Given the description of an element on the screen output the (x, y) to click on. 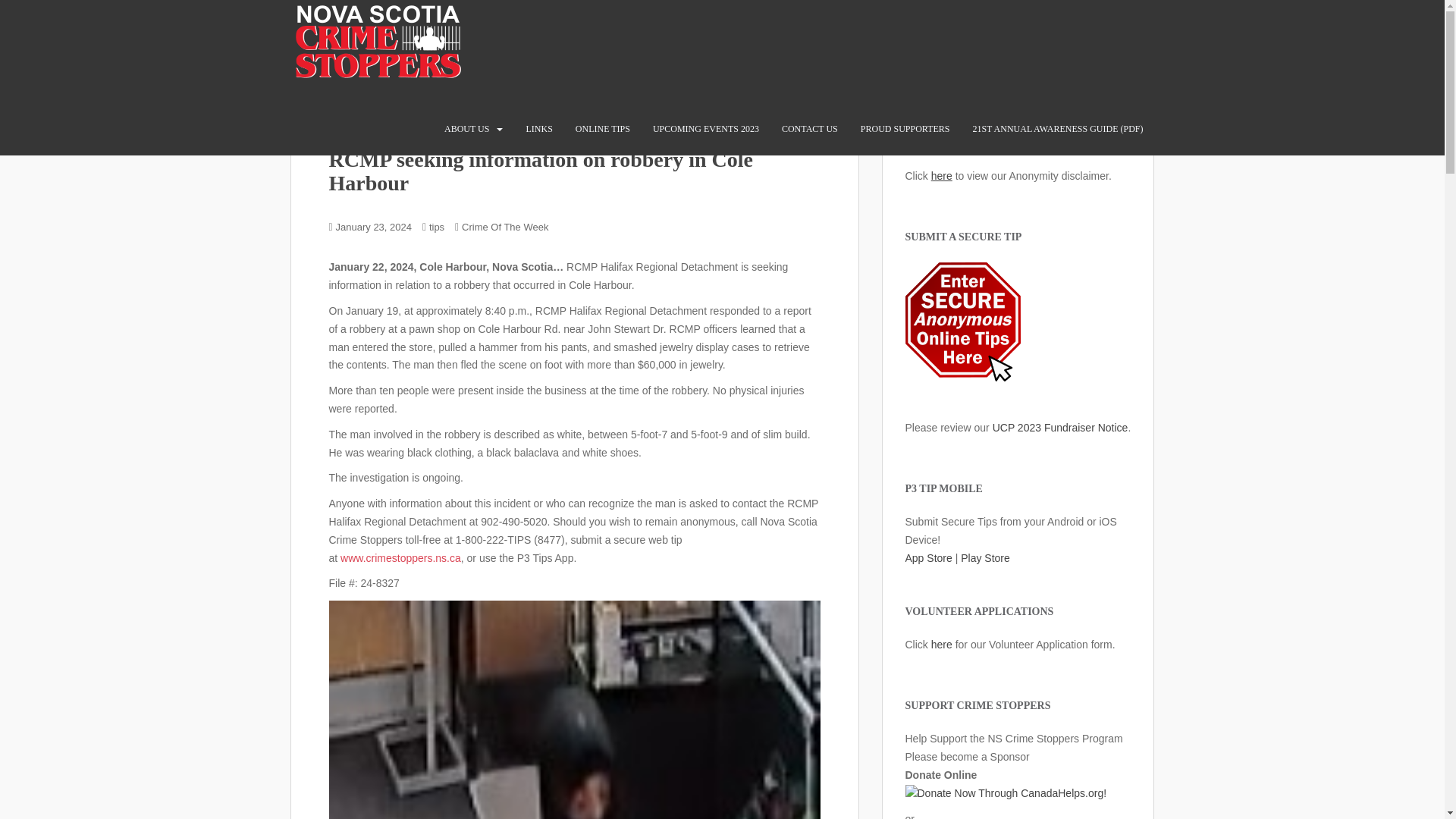
ABOUT US (466, 128)
UCP 2023 Fundraiser Notice (1060, 427)
tips (436, 226)
iTunes (928, 558)
here (941, 175)
LINKS (538, 128)
January 23, 2024 (374, 226)
CONTACT US (809, 128)
here (941, 644)
ONLINE TIPS (602, 128)
App Store (928, 558)
UPCOMING EVENTS 2023 (705, 128)
Crime Of The Week (504, 226)
Play Store (985, 558)
PROUD SUPPORTERS (905, 128)
